Given the description of an element on the screen output the (x, y) to click on. 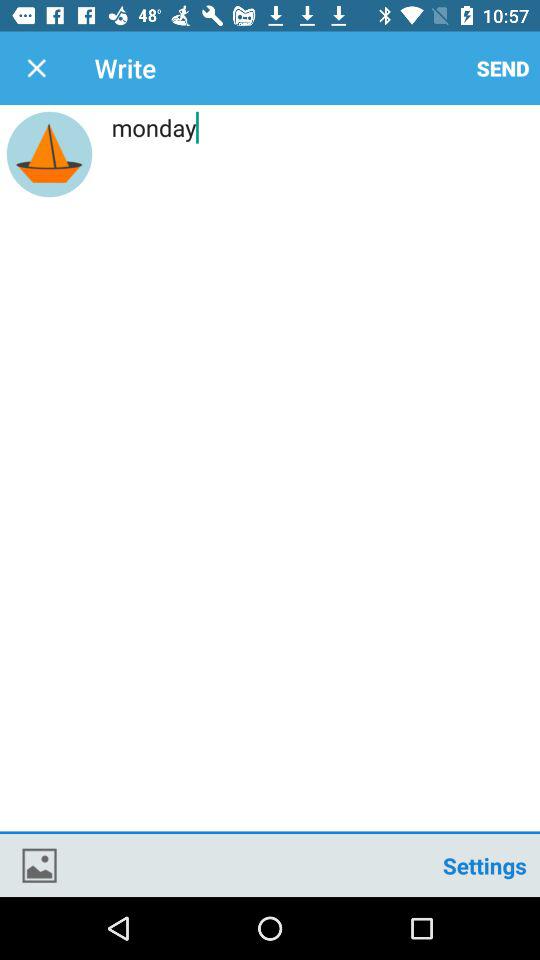
click icon at the top right corner (503, 67)
